Given the description of an element on the screen output the (x, y) to click on. 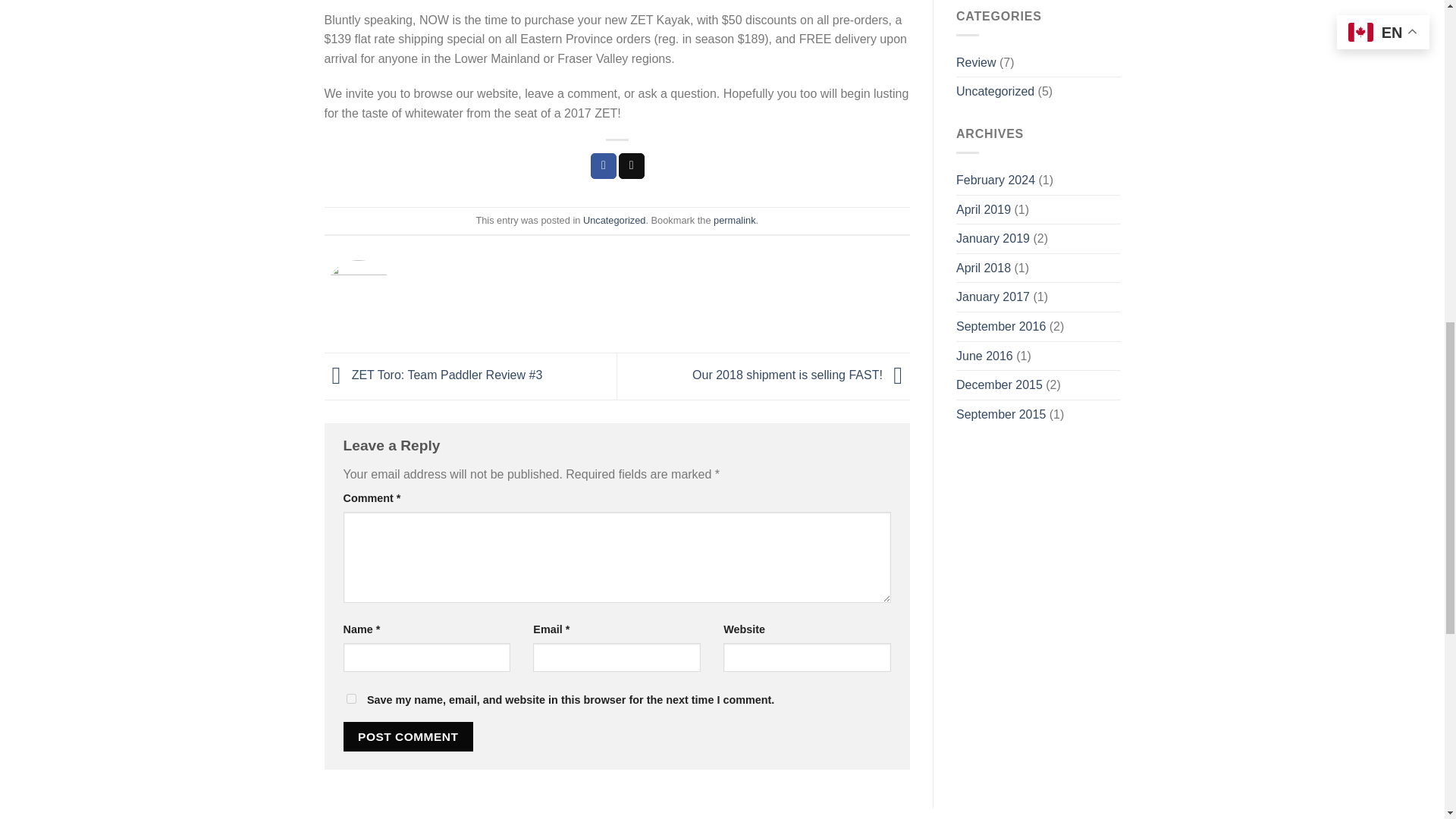
Email to a Friend (631, 166)
Post Comment (407, 736)
Share on Facebook (603, 166)
Permalink to 2017 Shipment on its way (734, 220)
Uncategorized (614, 220)
permalink (734, 220)
Post Comment (407, 736)
Our 2018 shipment is selling FAST! (801, 374)
yes (350, 698)
